Given the description of an element on the screen output the (x, y) to click on. 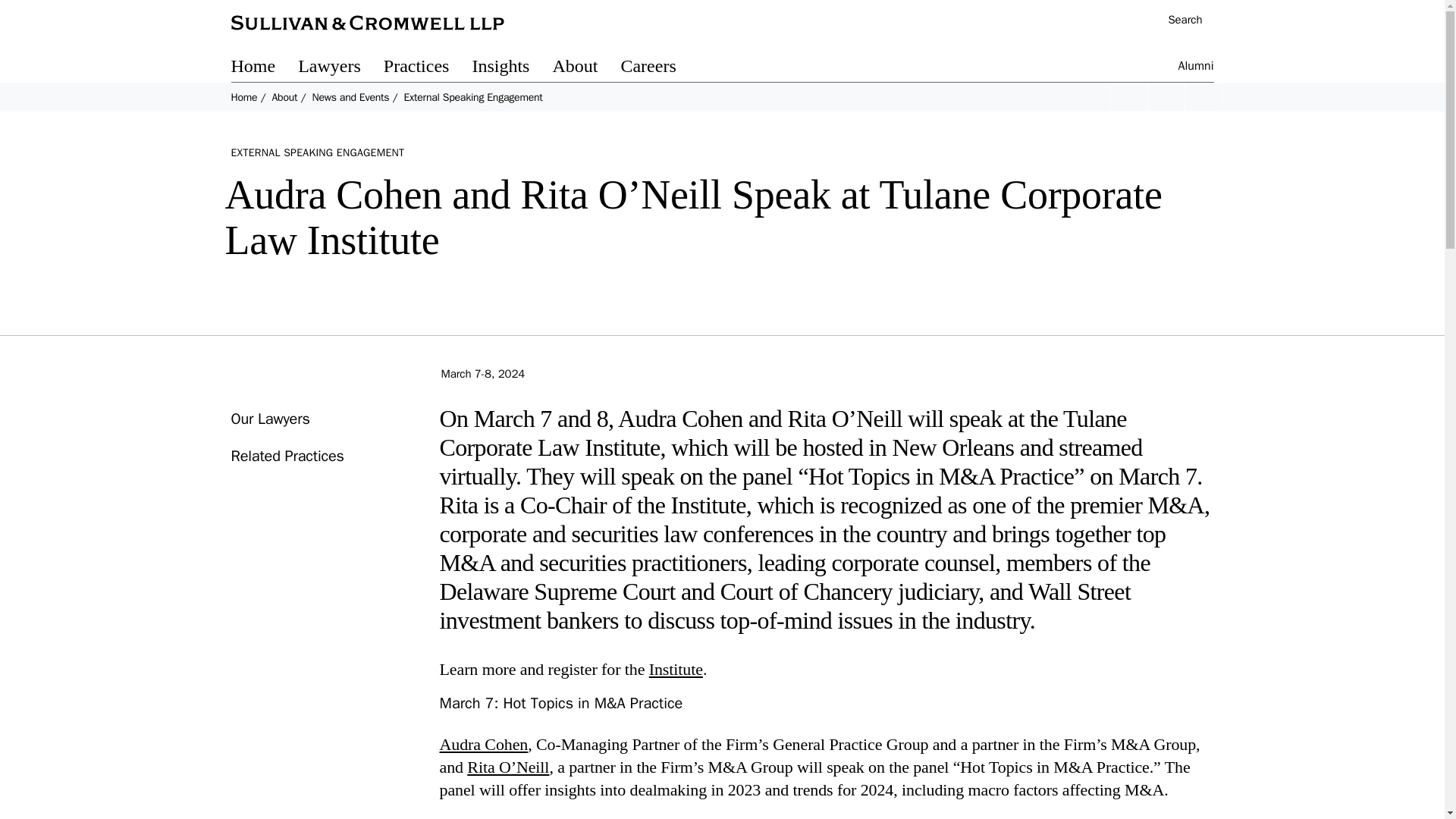
Search (1176, 20)
Related Practices (286, 456)
Audra Cohen (483, 743)
Our Lawyers (269, 418)
Alumni (1195, 67)
Lawyers (341, 67)
Insights (511, 67)
Home (243, 97)
News and Events (349, 97)
Audra Cohen (483, 743)
